Given the description of an element on the screen output the (x, y) to click on. 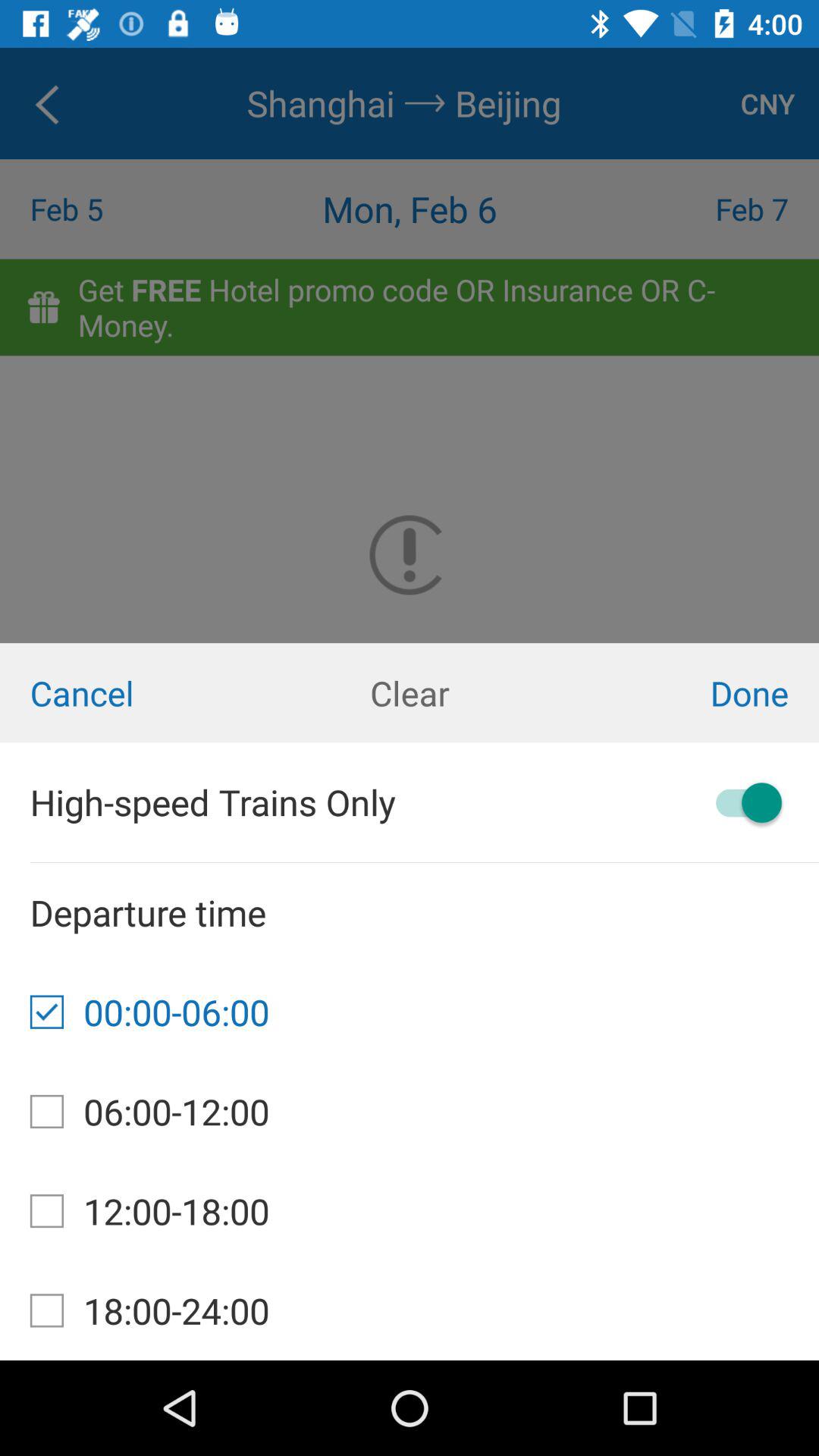
click the icon next to the done icon (409, 692)
